Given the description of an element on the screen output the (x, y) to click on. 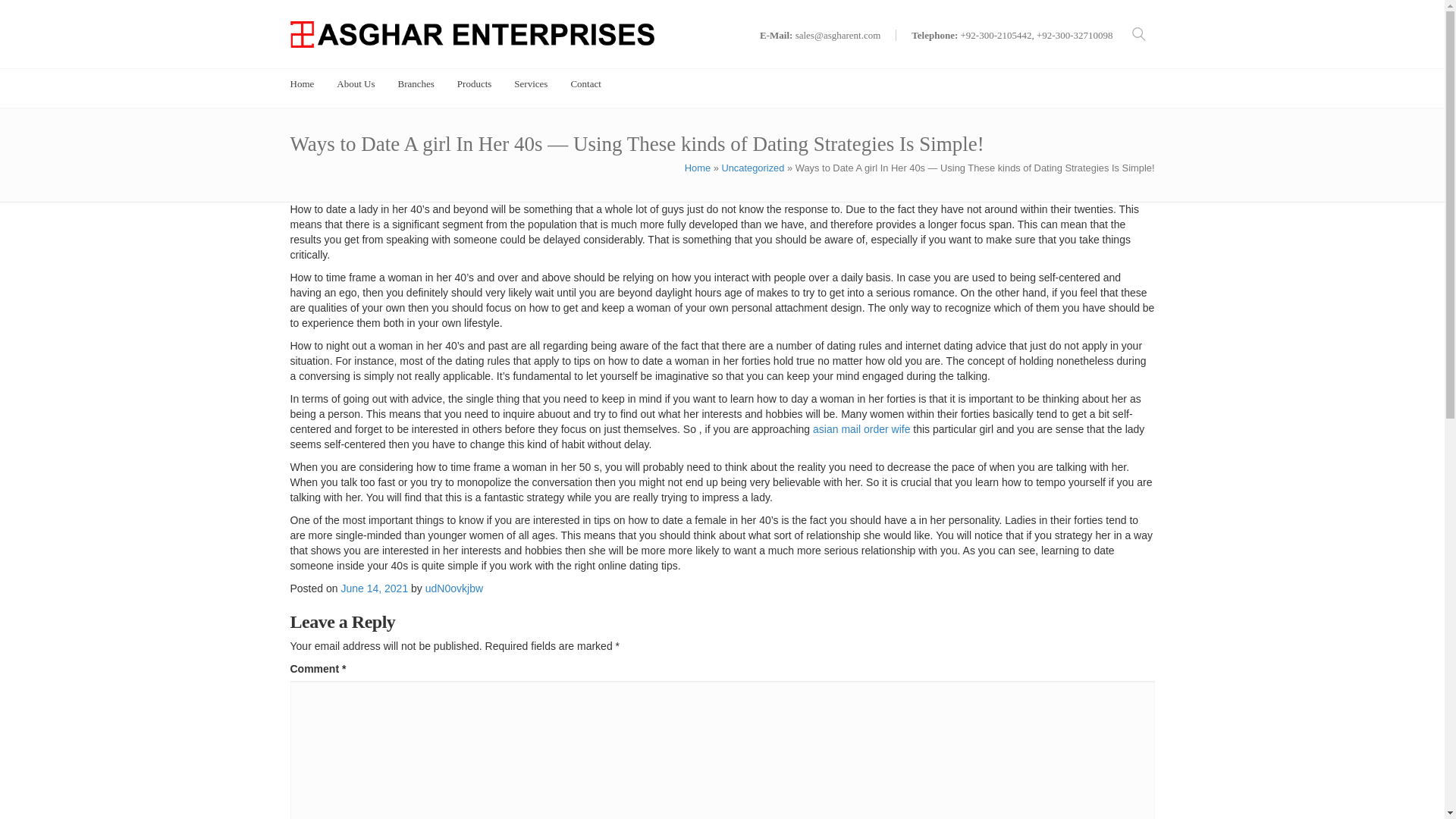
Branches (415, 83)
Products (474, 83)
Uncategorized (752, 167)
udN0ovkjbw (454, 588)
June 14, 2021 (373, 588)
asian mail order wife (861, 428)
Home (697, 167)
Services (530, 83)
Contact (584, 83)
About Us (355, 83)
